Given the description of an element on the screen output the (x, y) to click on. 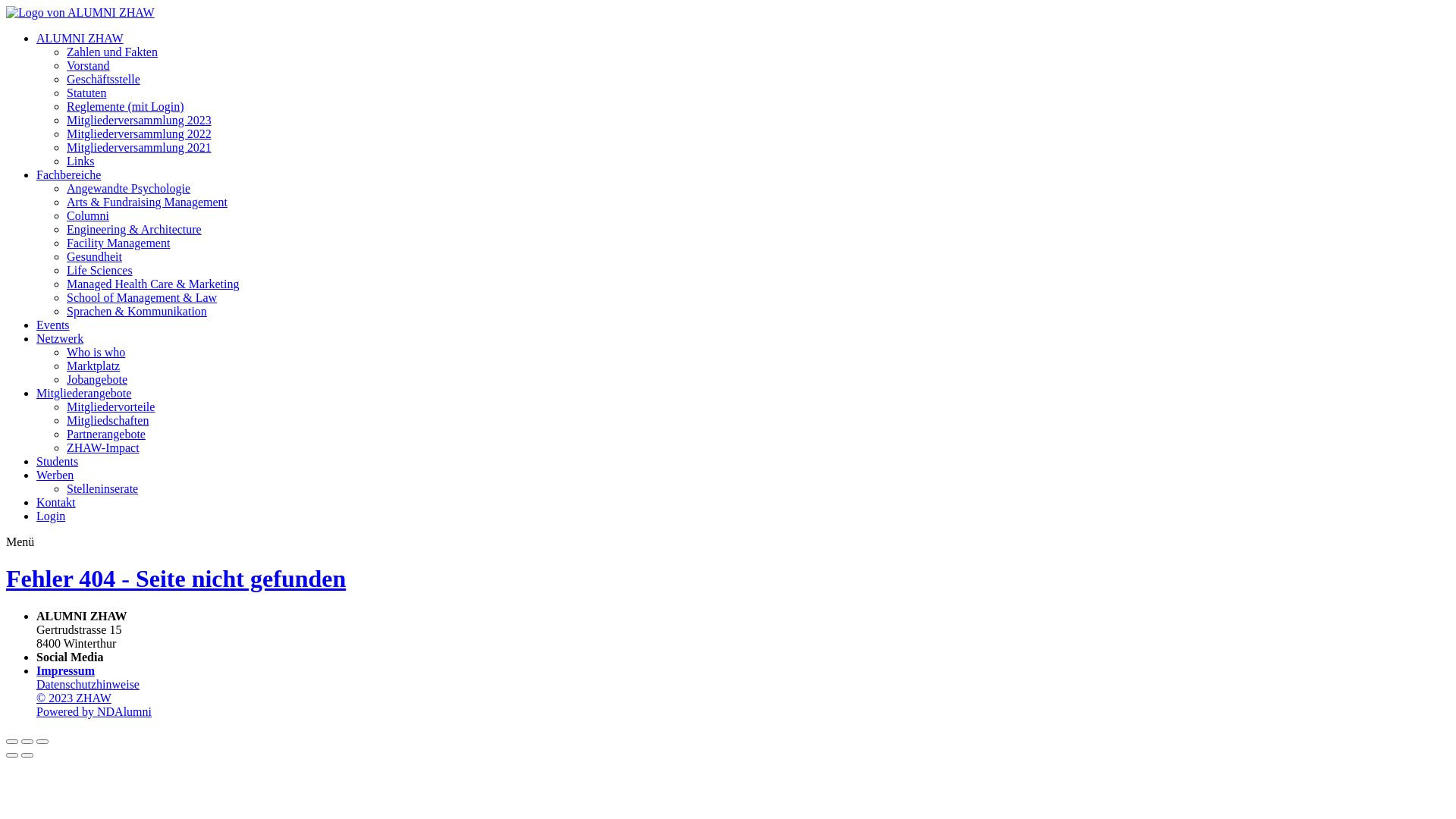
Life Sciences Element type: text (99, 269)
Gesundheit Element type: text (94, 256)
Mitgliederversammlung 2023 Element type: text (138, 119)
Statuten Element type: text (86, 92)
Datenschutzhinweise Element type: text (87, 683)
Students Element type: text (57, 461)
Angewandte Psychologie Element type: text (128, 188)
Vollbild Element type: hover (27, 741)
Columni Element type: text (87, 215)
School of Management & Law Element type: text (141, 297)
Mitgliederversammlung 2021 Element type: text (138, 147)
Jobangebote Element type: text (96, 379)
Mitgliedschaften Element type: text (107, 420)
Login Element type: text (50, 515)
ZHAW-Impact Element type: text (102, 447)
Werben Element type: text (54, 474)
Facility Management Element type: text (117, 242)
Powered by NDAlumni Element type: text (93, 711)
Marktplatz Element type: text (92, 365)
Managed Health Care & Marketing Element type: text (152, 283)
Events Element type: text (52, 324)
Mitgliederversammlung 2022 Element type: text (138, 133)
Mitgliedervorteile Element type: text (110, 406)
Fehler 404 - Seite nicht gefunden Element type: text (175, 578)
Engineering & Architecture Element type: text (133, 228)
Fachbereiche Element type: text (68, 174)
Impressum Element type: text (65, 670)
Partnerangebote Element type: text (105, 433)
Mitgliederangebote Element type: text (83, 392)
ALUMNI ZHAW Element type: text (79, 37)
Who is who Element type: text (95, 351)
Reglemente (mit Login) Element type: text (125, 106)
Stelleninserate Element type: text (102, 488)
Vorstand Element type: text (87, 65)
Zoom in/out Element type: hover (42, 741)
Netzwerk Element type: text (59, 338)
Arts & Fundraising Management Element type: text (146, 201)
Links Element type: text (80, 160)
Zahlen und Fakten Element type: text (111, 51)
Kontakt Element type: text (55, 501)
Vorheriges Bild Element type: hover (12, 755)
Sprachen & Kommunikation Element type: text (136, 310)
